Given the description of an element on the screen output the (x, y) to click on. 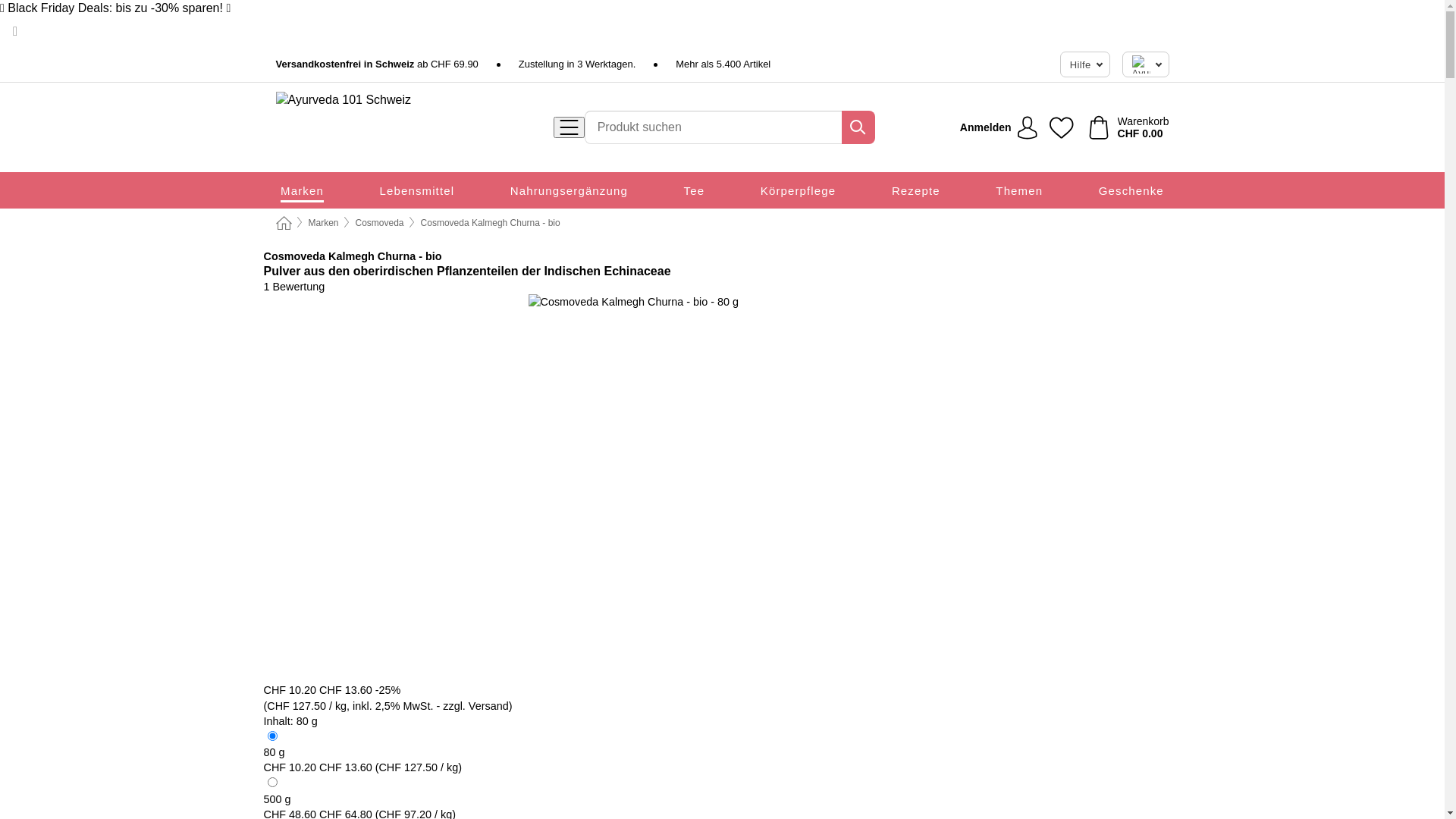
Zustellung in 3 Werktagen. Element type: text (576, 64)
Cosmoveda Element type: text (379, 222)
Lebensmittel Element type: text (417, 190)
Warenkorb
CHF 0.00 Element type: text (1128, 127)
Anmelden Element type: text (998, 127)
1 Bewertung Element type: text (294, 286)
Cosmoveda Kalmegh Churna - bio Element type: text (490, 222)
Cosmoveda Element type: text (294, 256)
Rezepte Element type: text (915, 190)
Marken Element type: text (301, 190)
Home Element type: text (283, 223)
Hilfe Element type: text (1085, 64)
Geschenke Element type: text (1131, 190)
Themen Element type: text (1018, 190)
zzgl. Versand Element type: text (475, 705)
Versandkostenfrei in Schweiz ab CHF 69.90 Element type: text (377, 64)
Marken Element type: text (322, 222)
Tee Element type: text (694, 190)
